Given the description of an element on the screen output the (x, y) to click on. 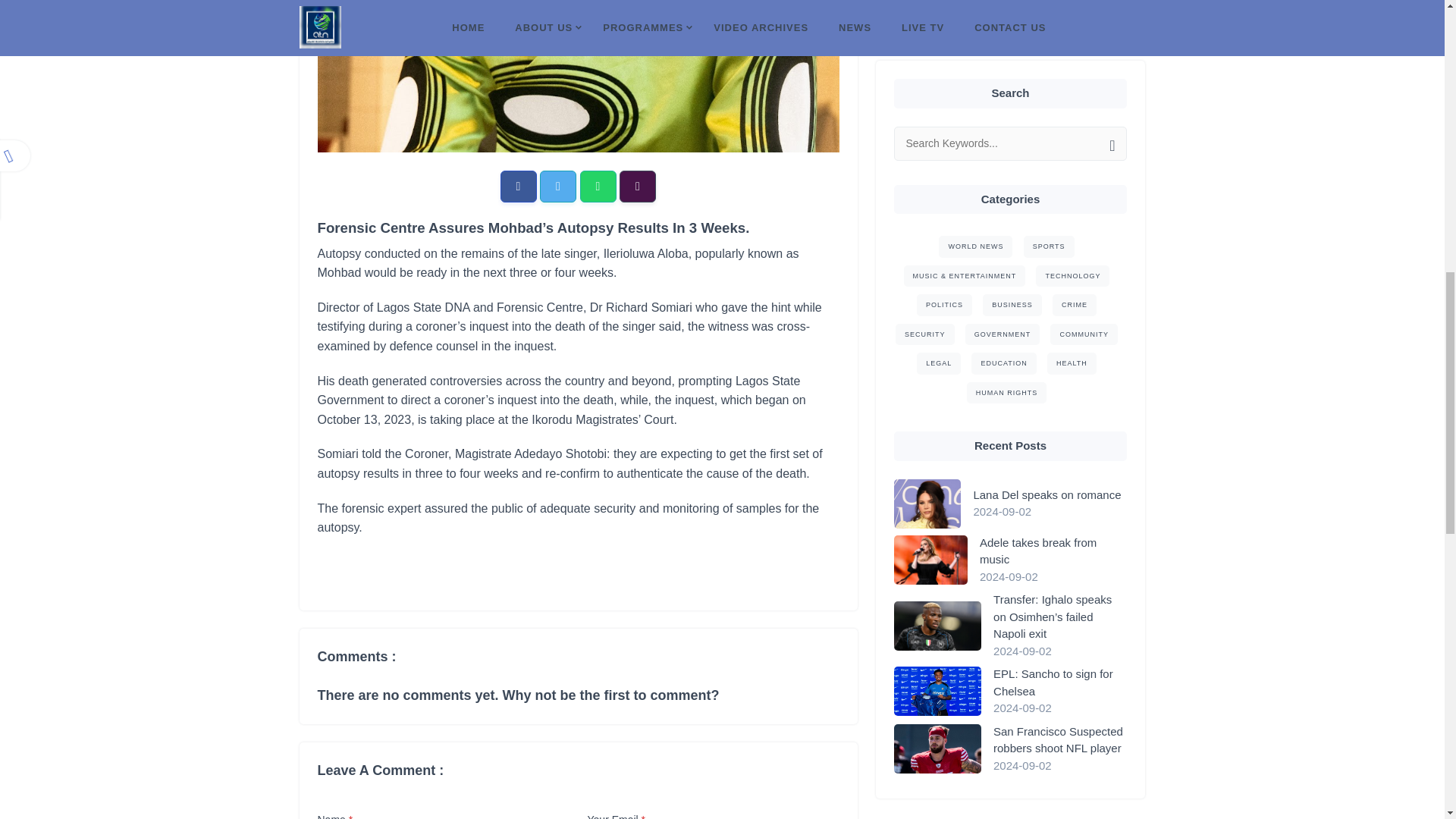
Lana Del speaks on romance (1049, 46)
Share by Email (638, 186)
EPL: Sancho to sign for Chelsea (1059, 234)
Adele takes break from music (1052, 103)
